Given the description of an element on the screen output the (x, y) to click on. 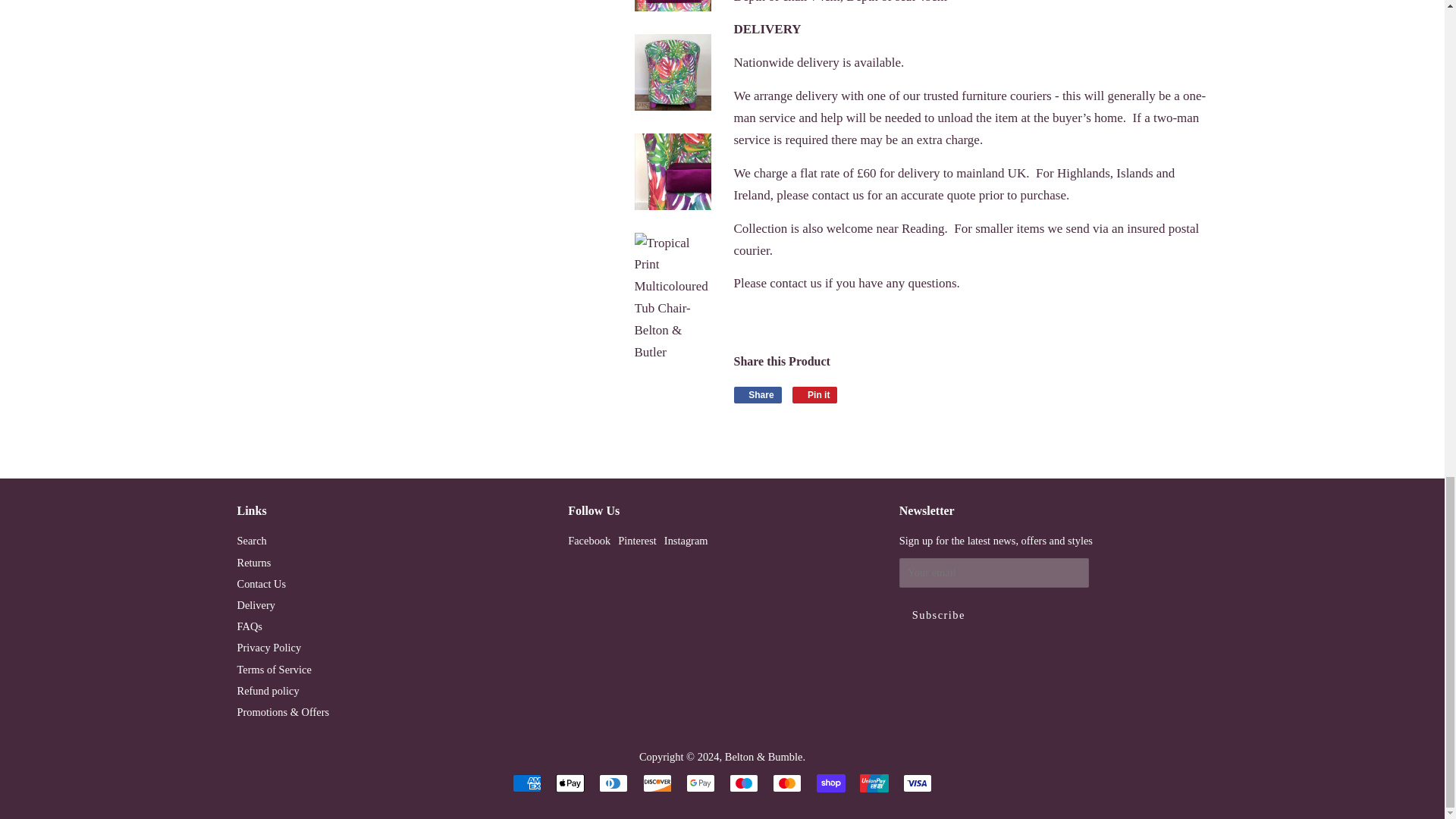
Maestro (743, 782)
Mastercard (787, 782)
Apple Pay (570, 782)
Pin on Pinterest (814, 394)
Visa (916, 782)
American Express (526, 782)
Share on Facebook (757, 394)
Shop Pay (830, 782)
Union Pay (874, 782)
Subscribe (938, 614)
